Given the description of an element on the screen output the (x, y) to click on. 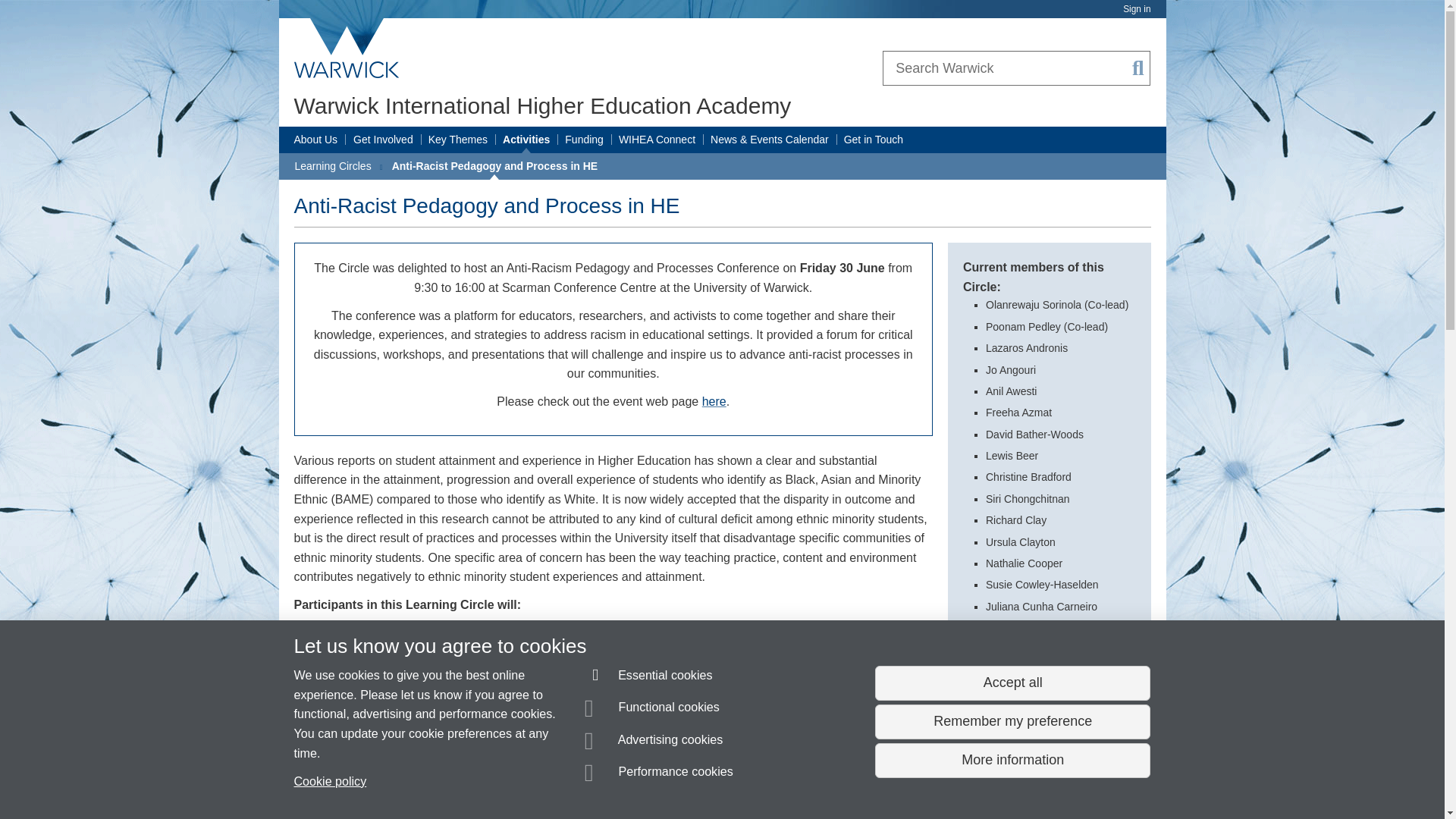
Key Themes (457, 139)
About Us (315, 139)
Warwick International Higher Education Academy (543, 105)
Learning Circles (332, 166)
Accept all functional, advertising and performance cookies (1012, 683)
Sign in (1136, 9)
Funding (584, 139)
WIHEA Connect (656, 139)
here (713, 400)
Anti-Racist Pedagogy and Process in HE (494, 166)
Get Involved (383, 139)
Essential cookies are always on (649, 677)
